Given the description of an element on the screen output the (x, y) to click on. 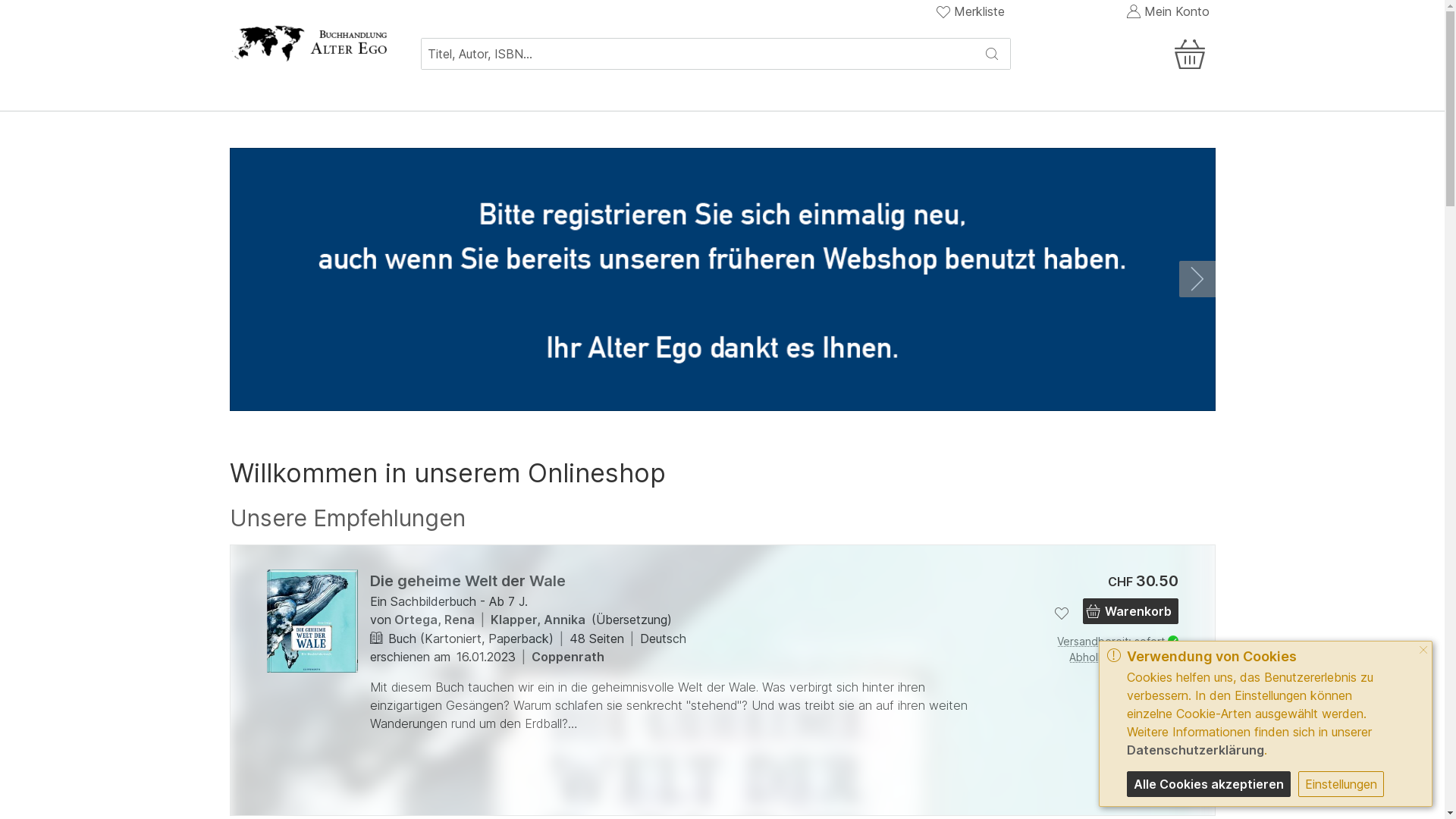
Zur Homepage Element type: hover (309, 42)
Weiter Element type: hover (1196, 680)
Mein Konto Element type: text (1166, 11)
Unsere Empfehlungen Element type: text (346, 518)
Die geheime Welt der Wale Element type: hover (311, 620)
Alle Cookies akzeptieren Element type: text (1208, 784)
Die geheime Welt der Wale Element type: text (467, 580)
Versandbereit: sofort Element type: text (1093, 641)
Zum Warenkorb Element type: hover (1192, 40)
Weiter Element type: hover (1196, 278)
Suchen Element type: hover (991, 53)
Diesen Artikel auf die Merkliste legen Element type: hover (1062, 612)
Abholbereit: sofort Element type: text (1093, 657)
Coppenrath Element type: text (566, 656)
Warenkorb Element type: text (1130, 611)
U-Joints: A Taxonomy of Connections Element type: hover (1297, 637)
Merkliste Element type: text (969, 11)
Klapper, Annika Element type: text (536, 619)
Zum Warenkorb Element type: hover (1127, 53)
Schliessen Element type: hover (1422, 649)
Einstellungen Element type: text (1340, 784)
Ortega, Rena Element type: text (434, 619)
